Given the description of an element on the screen output the (x, y) to click on. 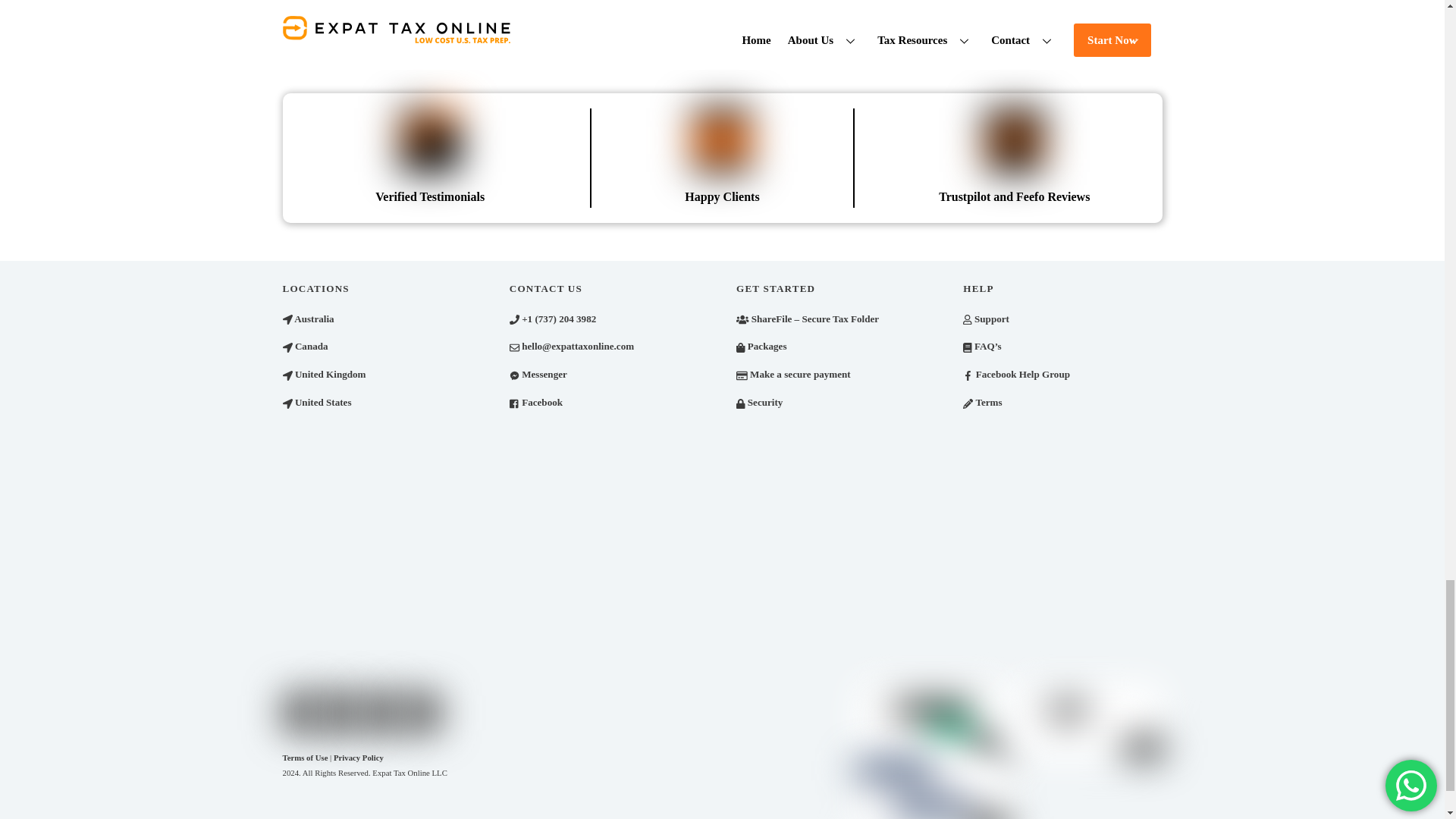
41000 Testimonials (429, 139)
5,300-Happy-Clients (721, 139)
5-star-Feefo-Reviews (1014, 139)
